Given the description of an element on the screen output the (x, y) to click on. 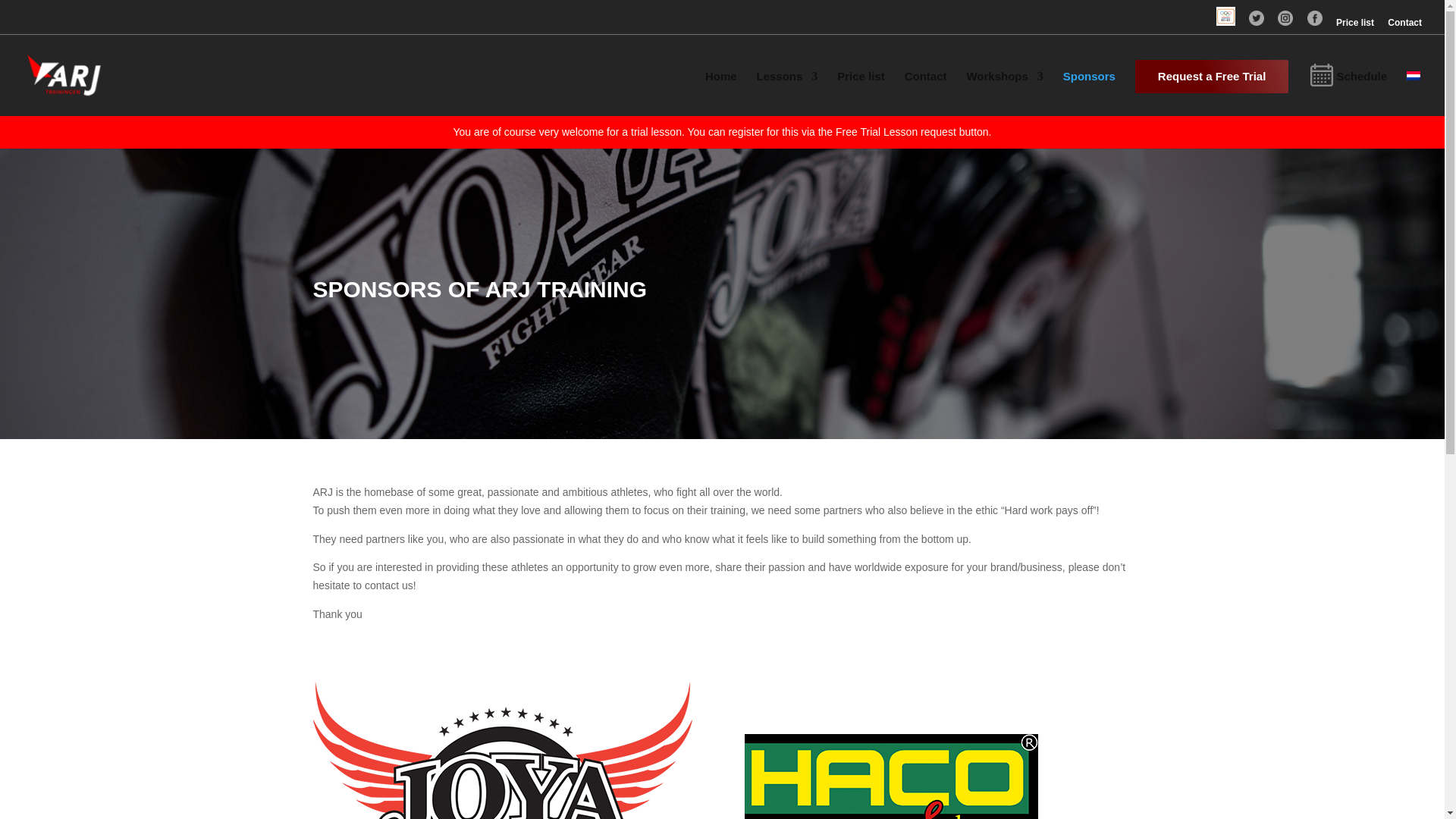
Schedule (1348, 89)
Lessons (787, 89)
Contact (925, 89)
Sponsors (1088, 89)
Home (720, 89)
Price list (1355, 26)
Contact (1404, 26)
Price list (861, 89)
Workshops (1004, 89)
Request a Free Trial (1211, 76)
